Given the description of an element on the screen output the (x, y) to click on. 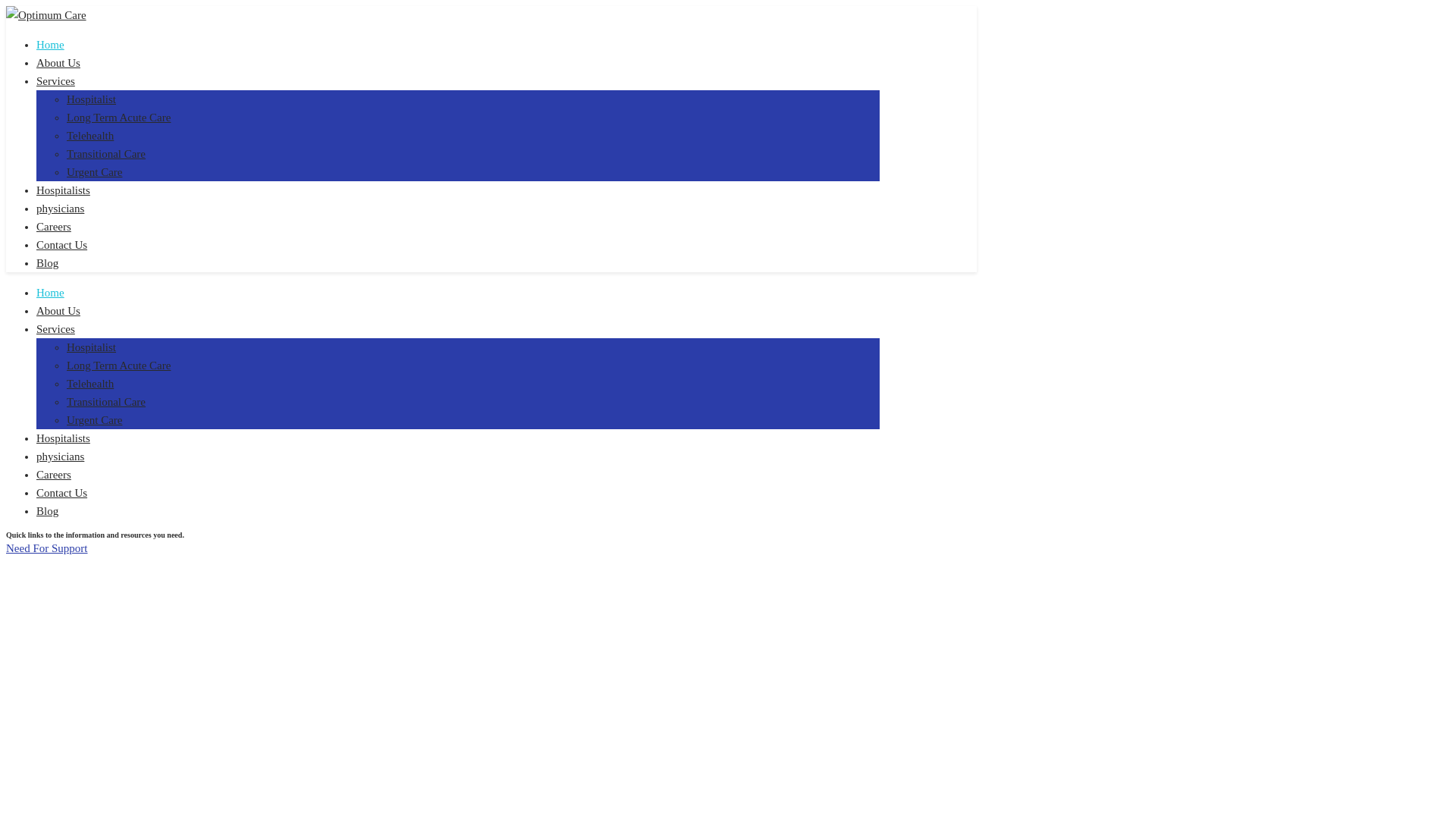
Services (55, 80)
Urgent Care (94, 419)
Services (55, 328)
Home (50, 44)
Hospitalist (91, 99)
About Us (58, 310)
Transitional Care (105, 401)
Blog (47, 263)
About Us (58, 62)
Long Term Acute Care (118, 365)
Hospitalists (63, 438)
physicians (60, 208)
Blog (47, 510)
Careers (53, 226)
Home (50, 292)
